Given the description of an element on the screen output the (x, y) to click on. 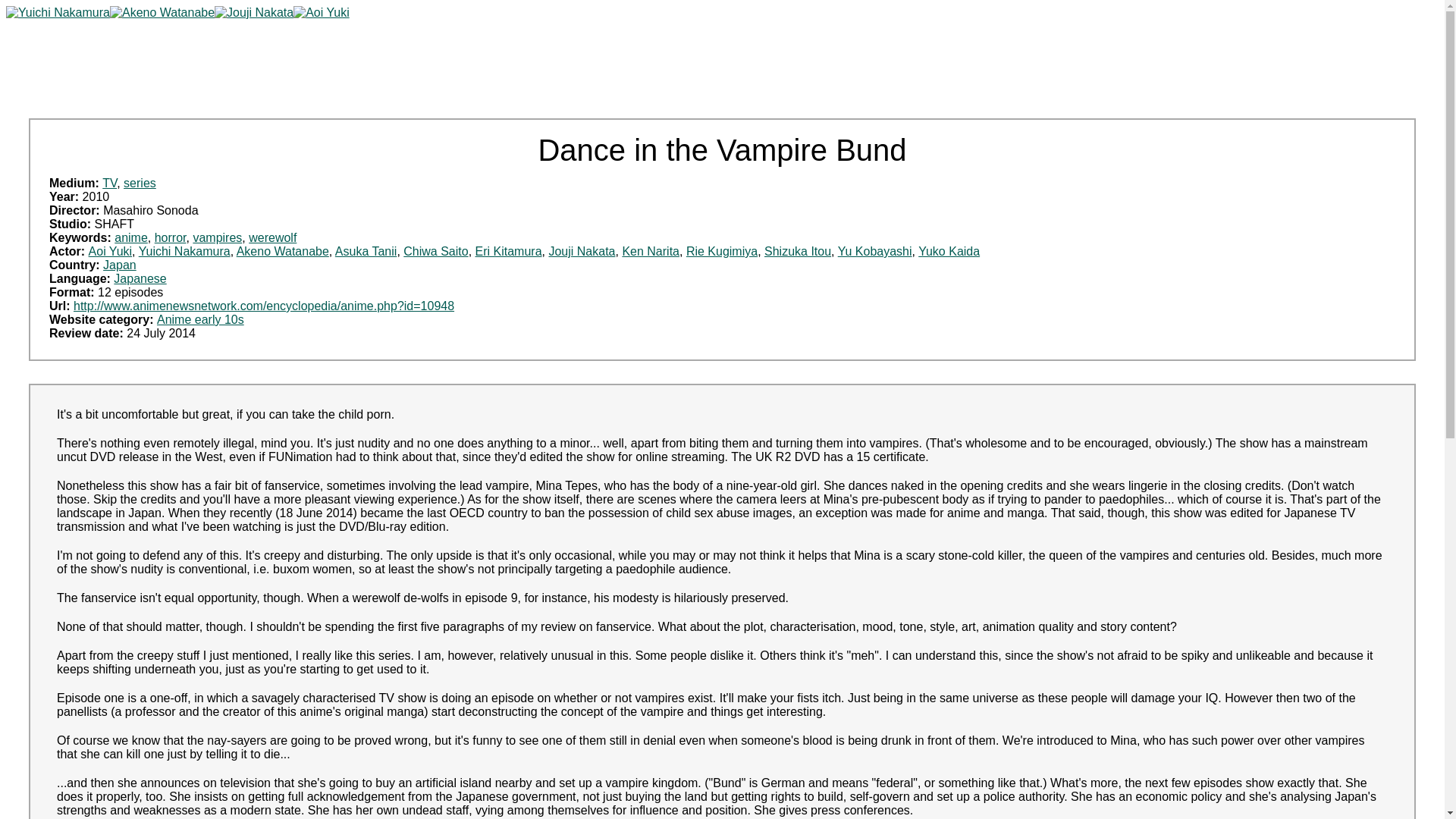
werewolf (272, 237)
Chiwa Saito (435, 250)
Shizuka Itou (797, 250)
Japanese (139, 278)
anime (131, 237)
Anime early 10s (200, 318)
Yuichi Nakamura (184, 250)
Akeno Watanabe (282, 250)
Yu Kobayashi (875, 250)
Rie Kugimiya (721, 250)
